Given the description of an element on the screen output the (x, y) to click on. 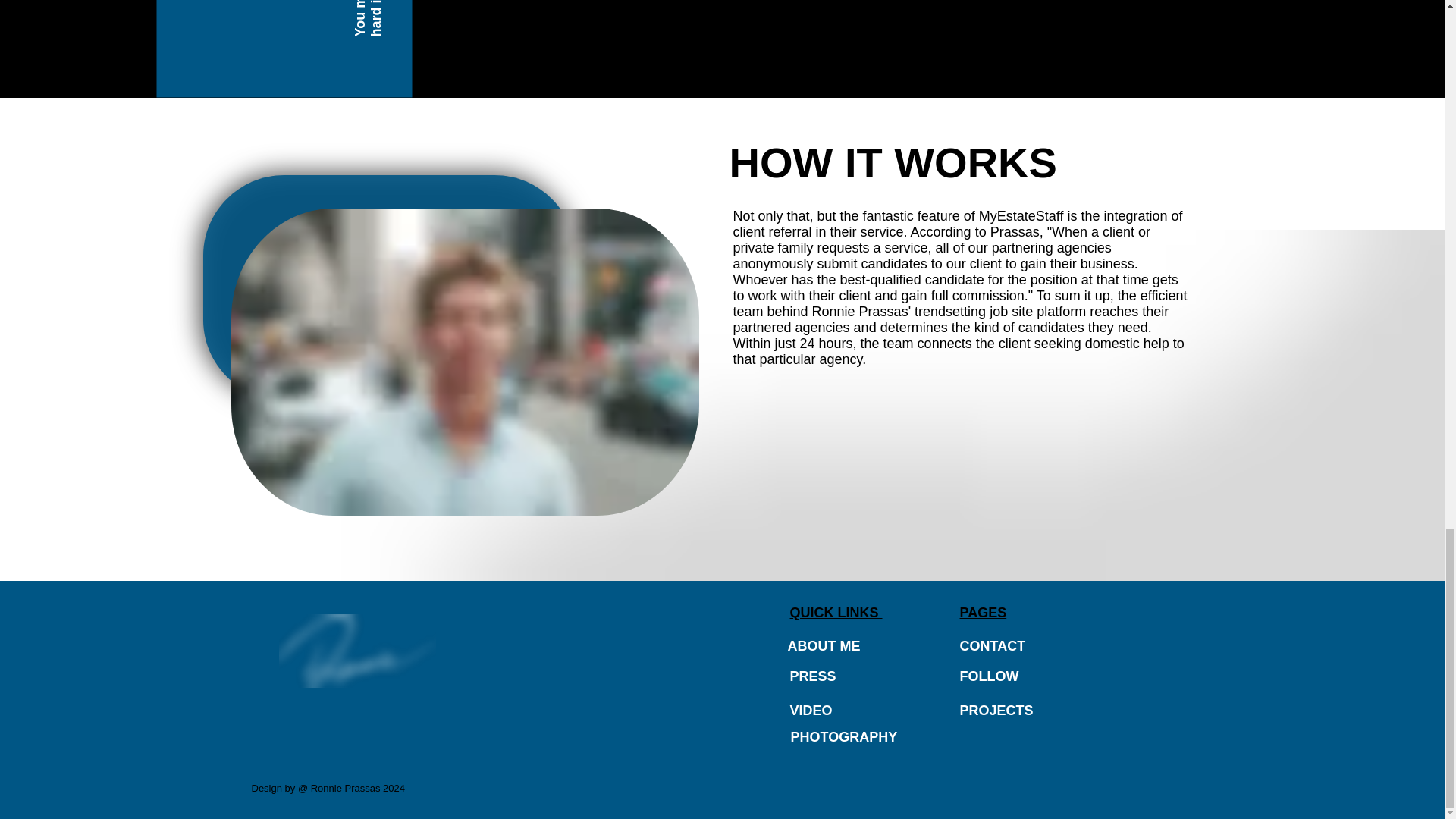
PRESS (812, 676)
PROJECTS (996, 710)
CONTACT (992, 645)
VIDEO (811, 710)
PHOTOGRAPHY (843, 736)
FOLLOW (989, 676)
ABOUT ME  (825, 645)
